Given the description of an element on the screen output the (x, y) to click on. 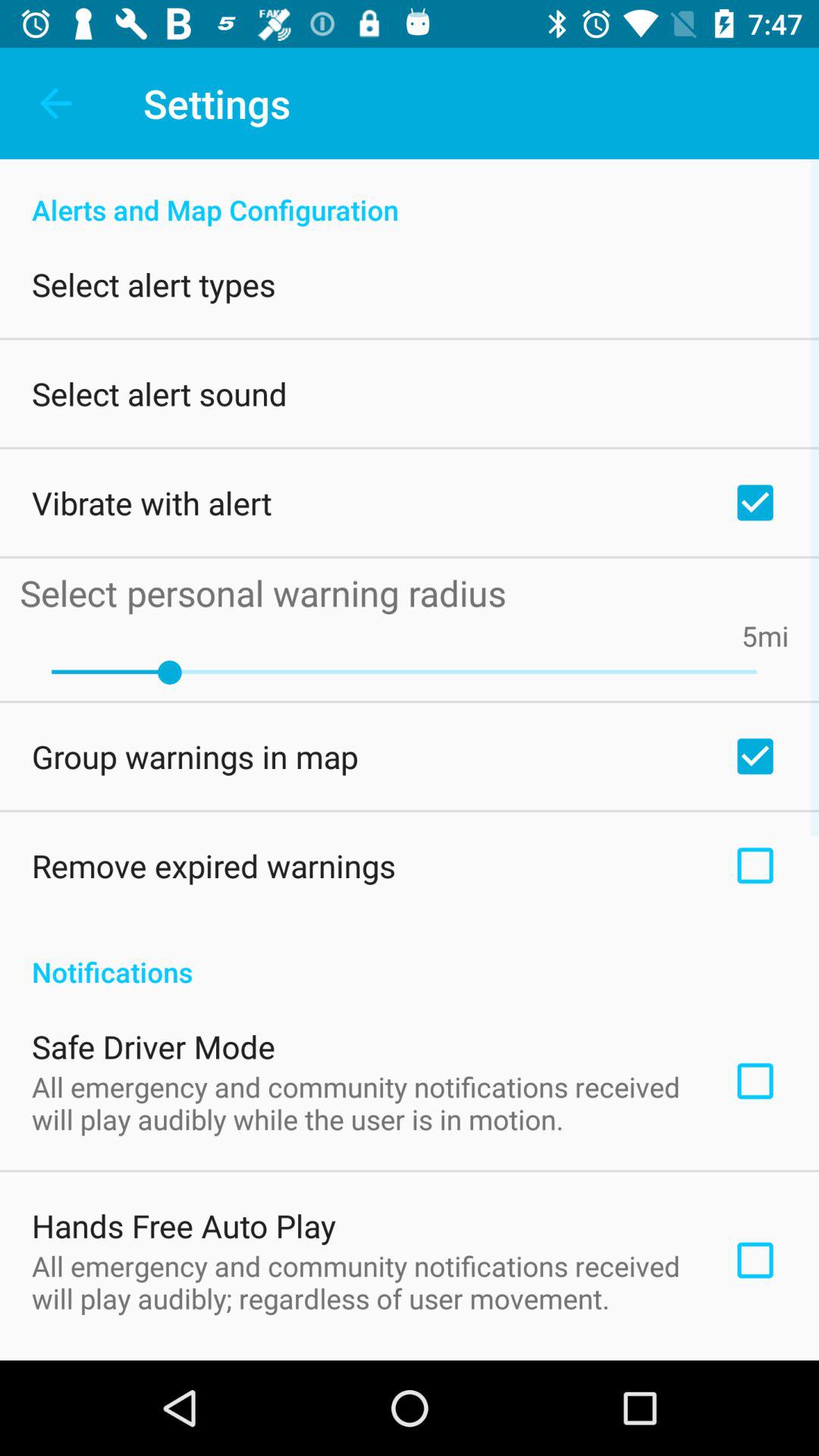
jump until the mi app (772, 635)
